Given the description of an element on the screen output the (x, y) to click on. 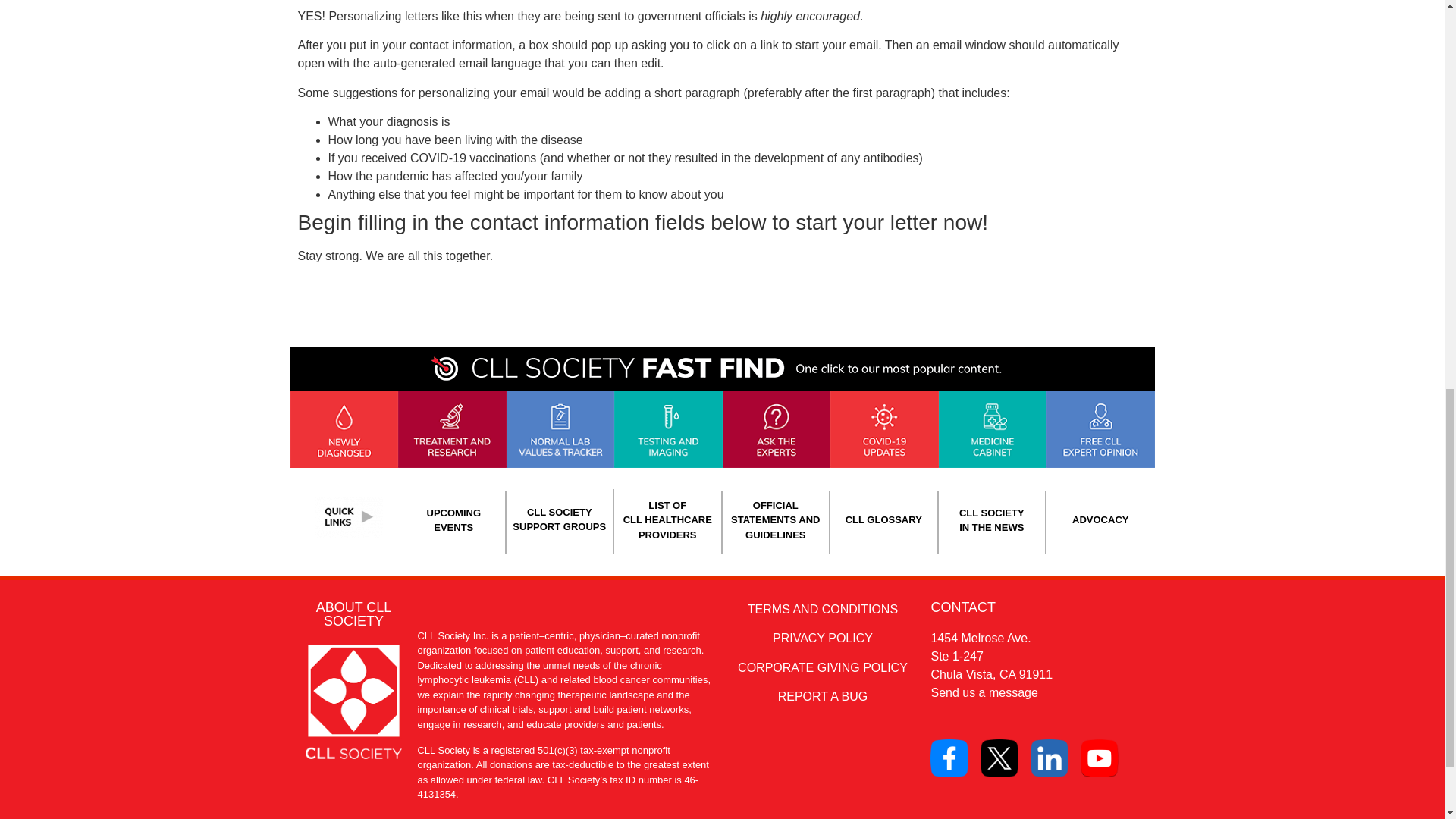
xFINAL Free CLL Expwert Opinion 107 (1100, 428)
quicklinks (348, 516)
xFINAL Treatment And Research 107 (451, 428)
